Given the description of an element on the screen output the (x, y) to click on. 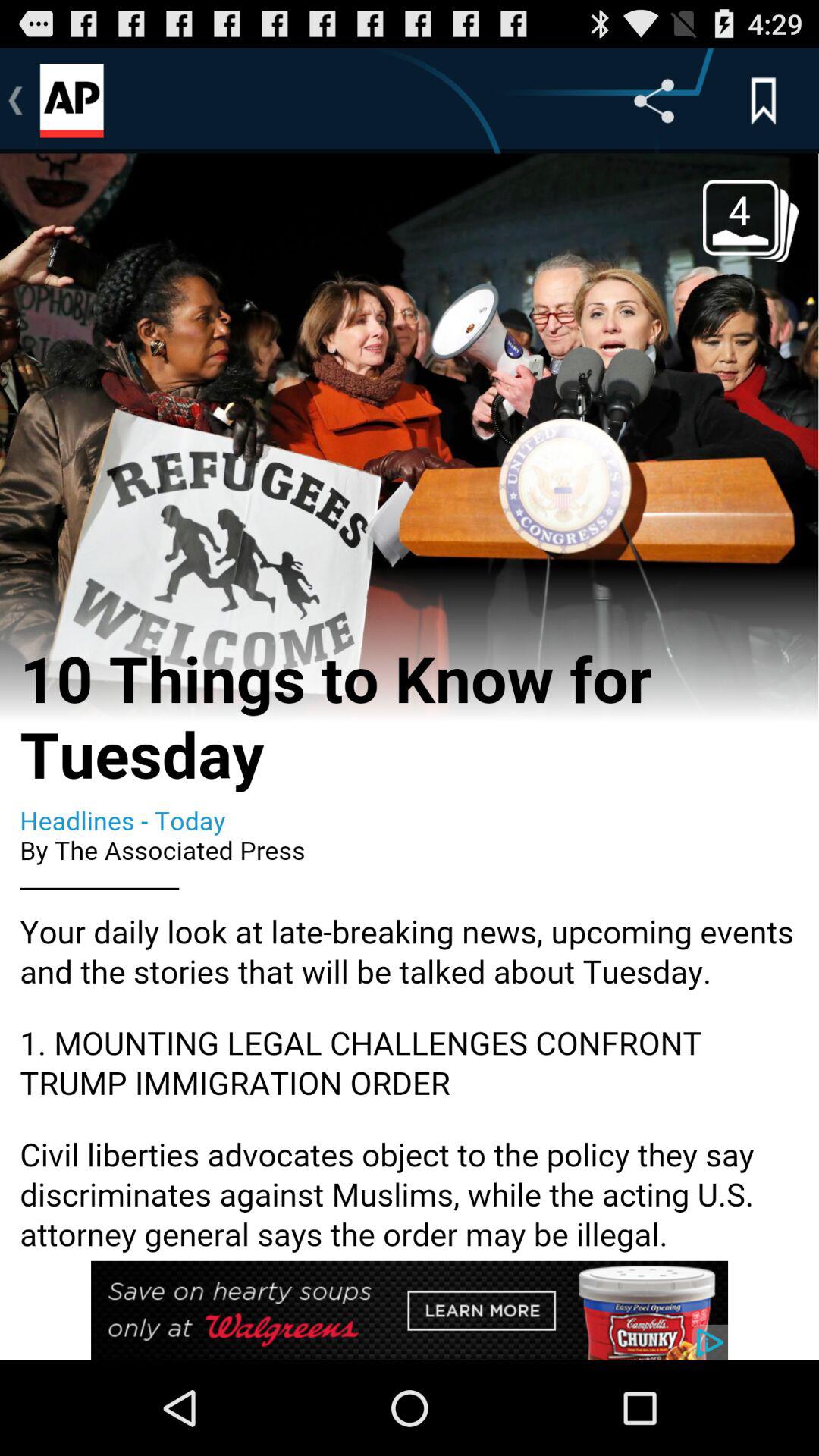
advertisement (409, 1310)
